Given the description of an element on the screen output the (x, y) to click on. 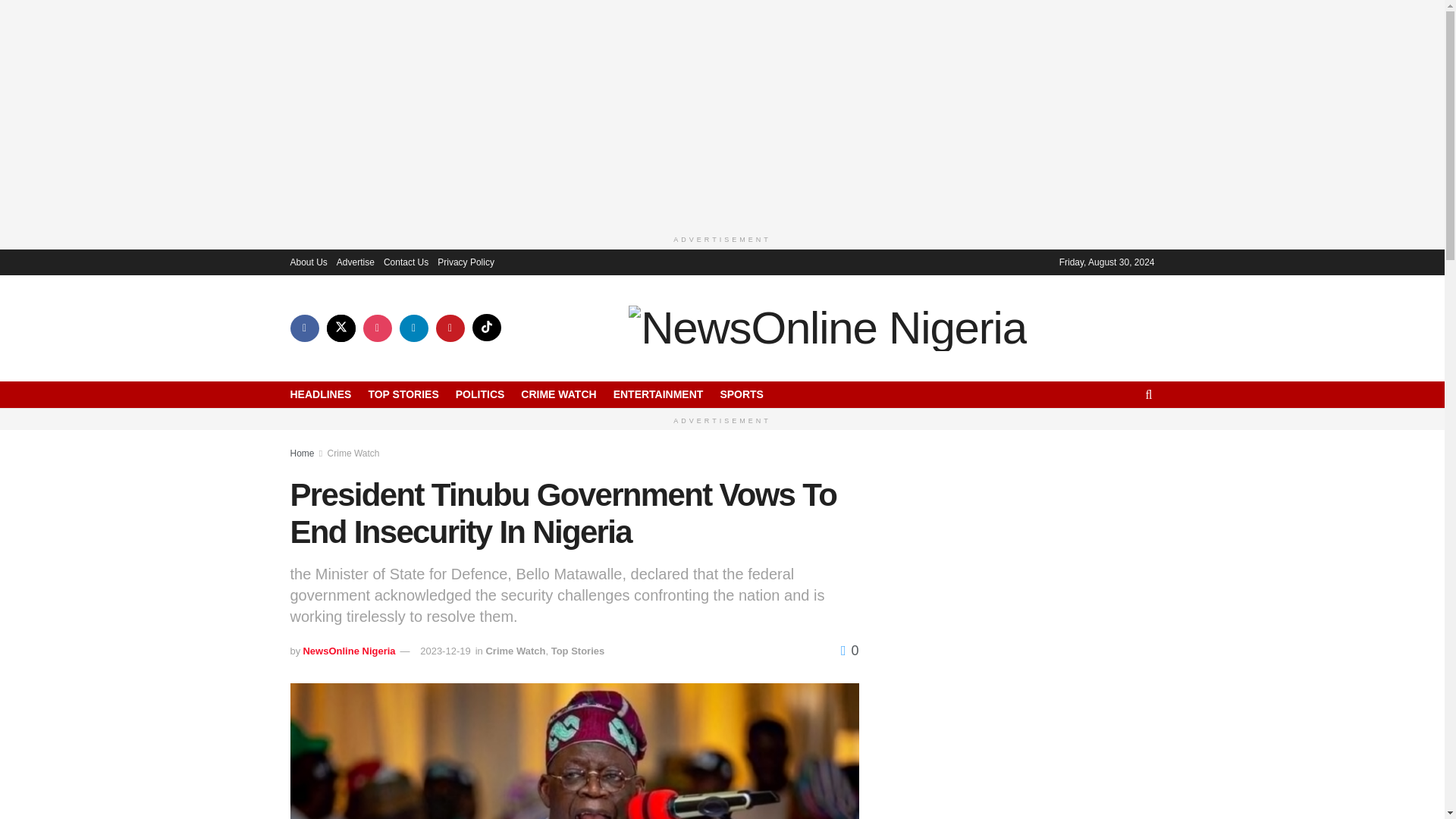
POLITICS (480, 394)
Crime Watch (353, 452)
Advertise (355, 261)
TOP STORIES (403, 394)
HEADLINES (319, 394)
About Us (307, 261)
Privacy Policy (466, 261)
Contact Us (406, 261)
NewsOnline Nigeria (348, 650)
SPORTS (740, 394)
